Given the description of an element on the screen output the (x, y) to click on. 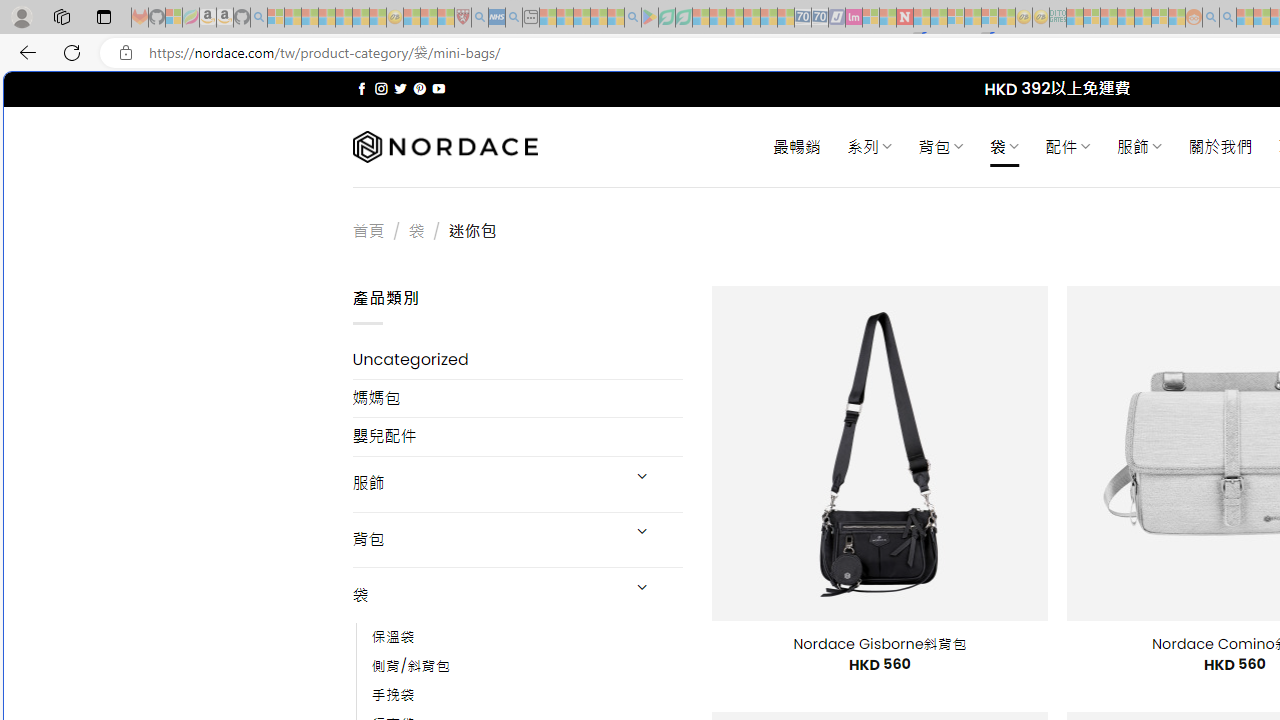
Nordace (444, 147)
Follow on Facebook (361, 88)
Nordace (444, 147)
Cheap Hotels - Save70.com - Sleeping (819, 17)
Microsoft Start - Sleeping (1244, 17)
Recipes - MSN - Sleeping (411, 17)
